Given the description of an element on the screen output the (x, y) to click on. 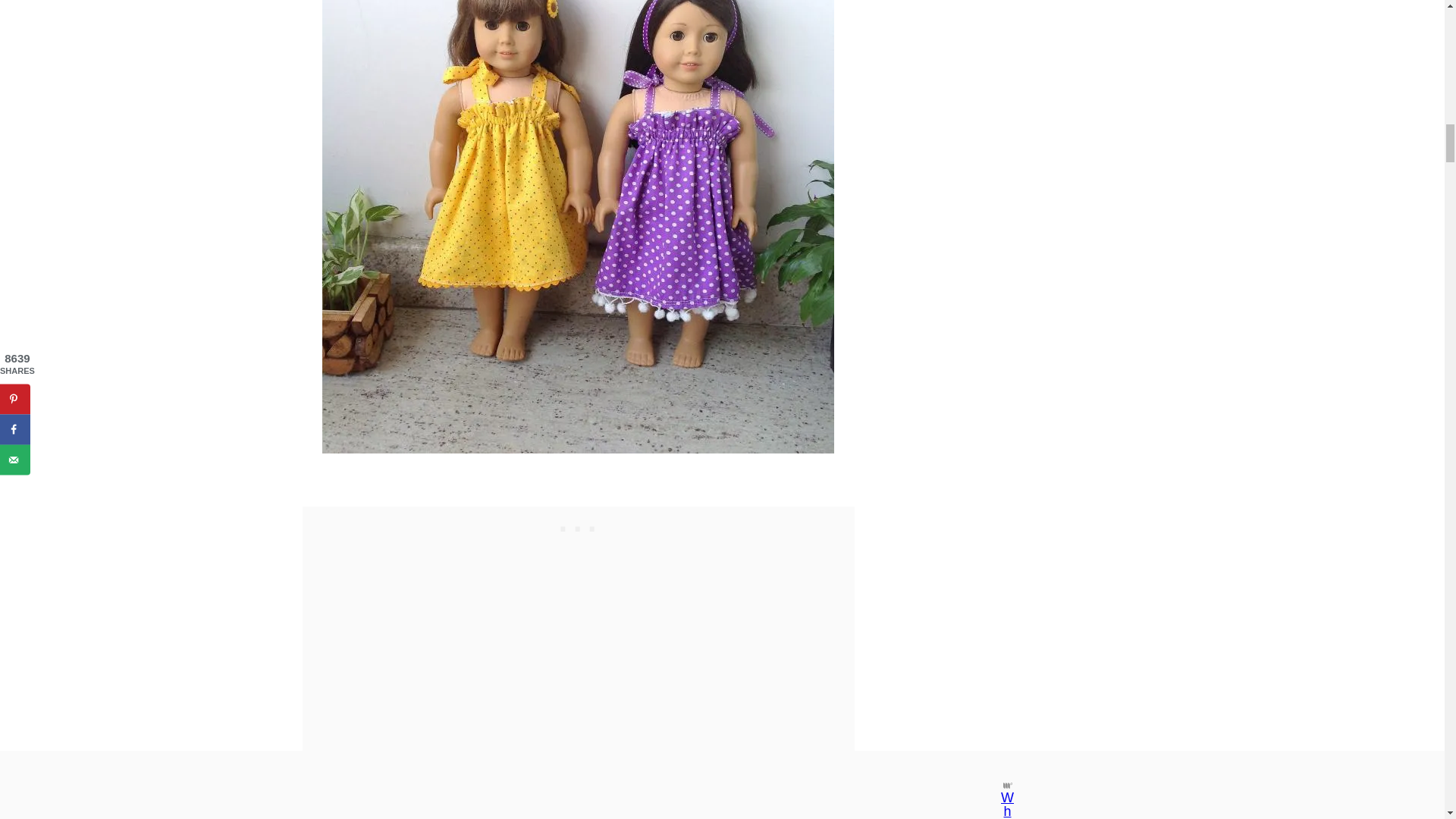
3rd party ad content (577, 525)
